Given the description of an element on the screen output the (x, y) to click on. 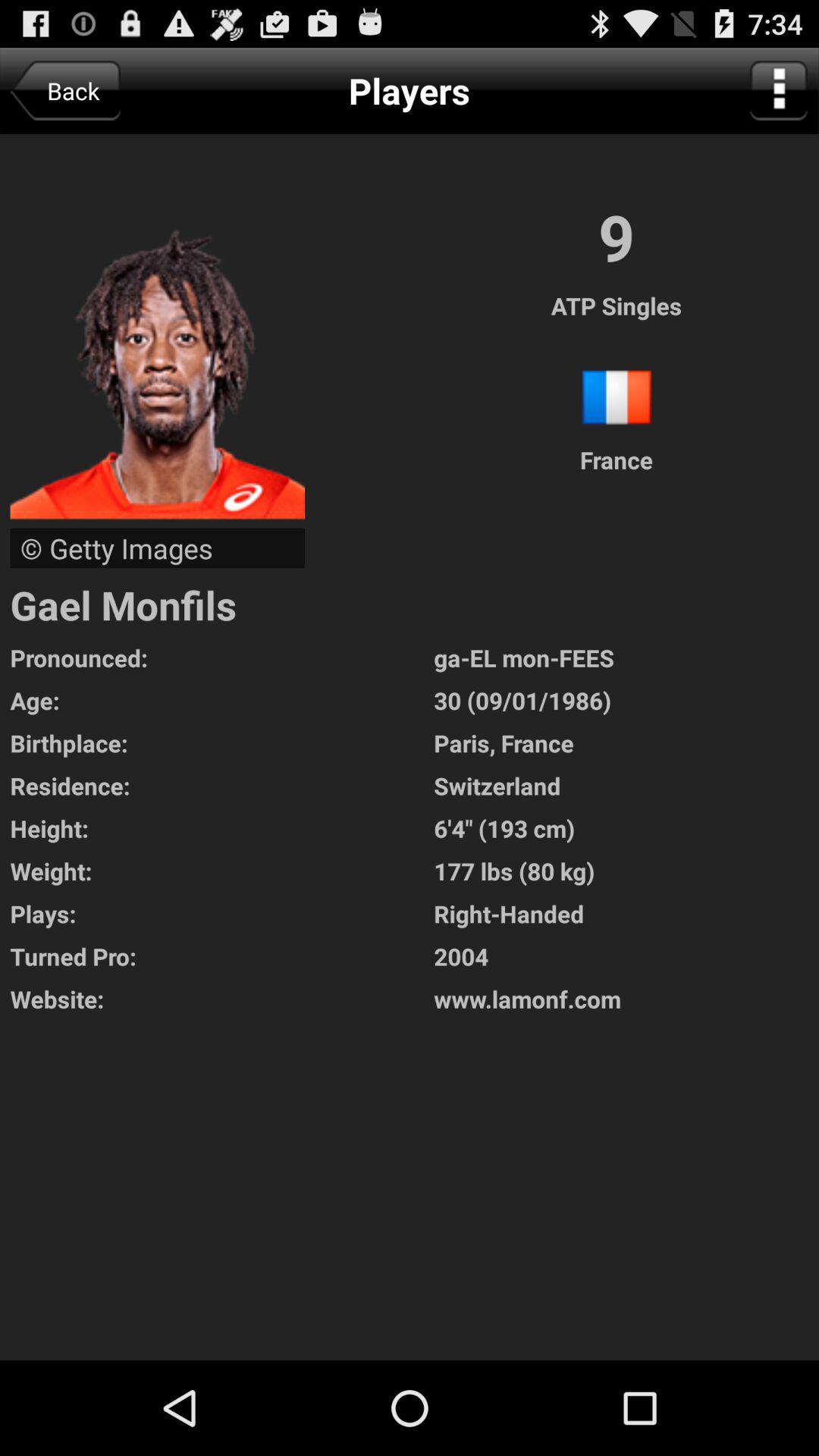
choose app next to the players icon (65, 90)
